Given the description of an element on the screen output the (x, y) to click on. 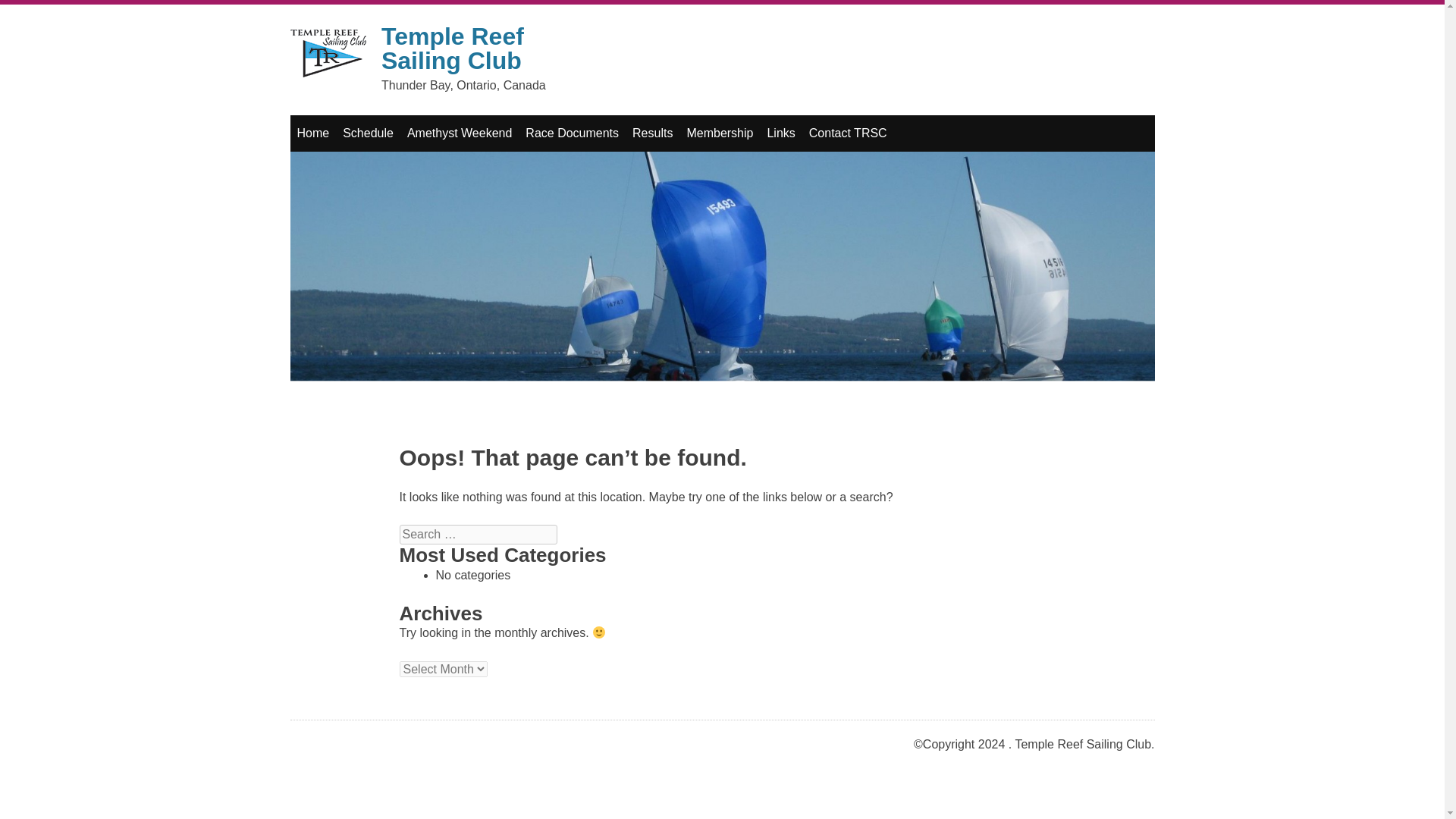
Temple Reef Logo (327, 53)
Skip to content (336, 133)
Temple Reef Sailing Club (452, 48)
Links (781, 133)
Amethyst Weekend (459, 133)
Home (312, 133)
Membership (719, 133)
Temple Reef Sailing Club (452, 48)
Results (652, 133)
Contact TRSC (847, 133)
Skip to content (336, 133)
Race Documents (572, 133)
Temple Reef Sailing Club (327, 56)
Schedule (368, 133)
